Given the description of an element on the screen output the (x, y) to click on. 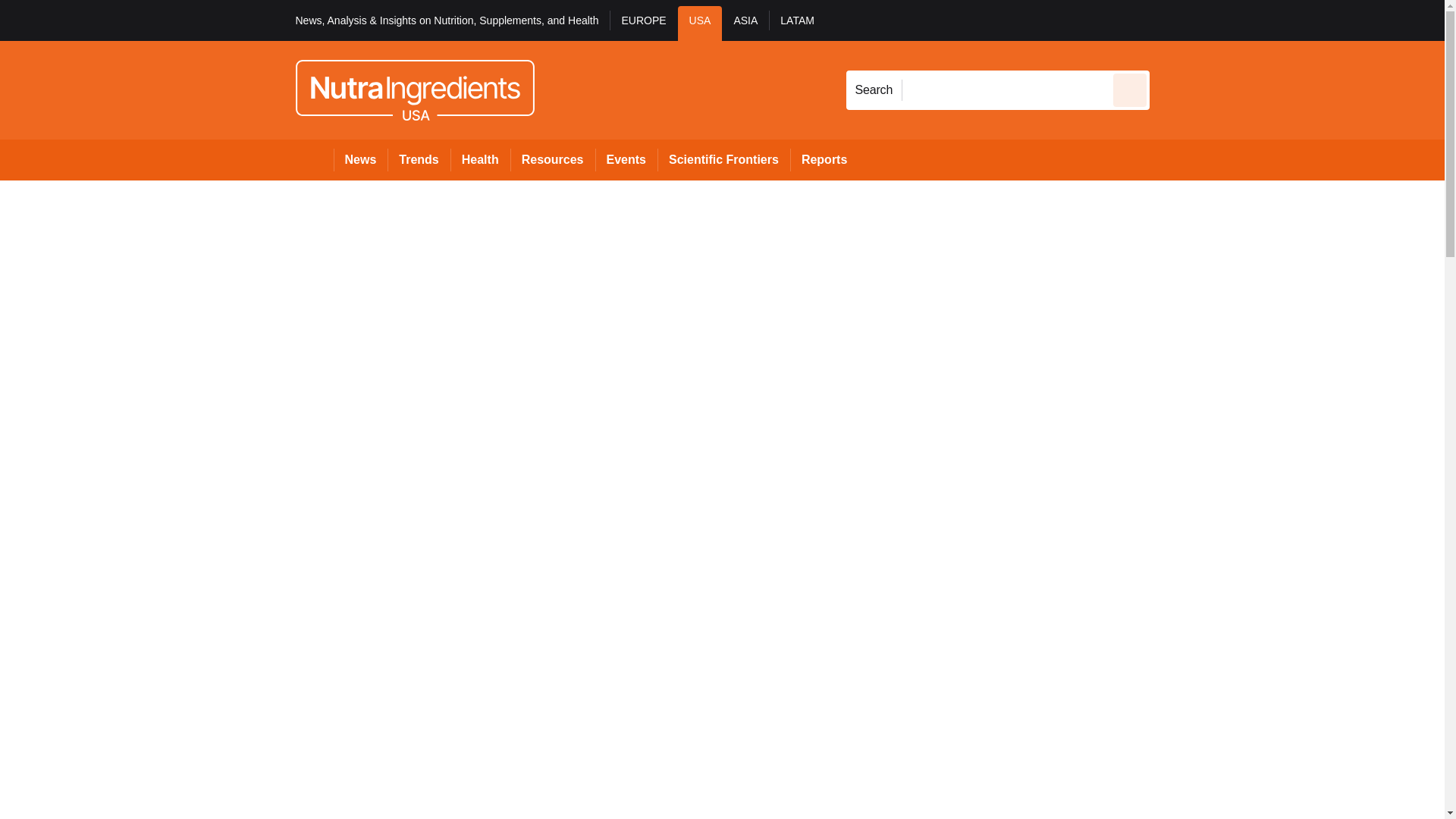
Send (1129, 89)
Send (1129, 90)
ASIA (745, 22)
Sign out (1174, 20)
Trends (418, 159)
News (360, 159)
NutraIngredients USA (414, 89)
SUBSCRIBE (1318, 20)
My account (1256, 20)
Home (313, 159)
EUROPE (643, 22)
USA (700, 22)
SUBSCRIBE (1362, 20)
LATAM (796, 22)
Home (314, 159)
